Given the description of an element on the screen output the (x, y) to click on. 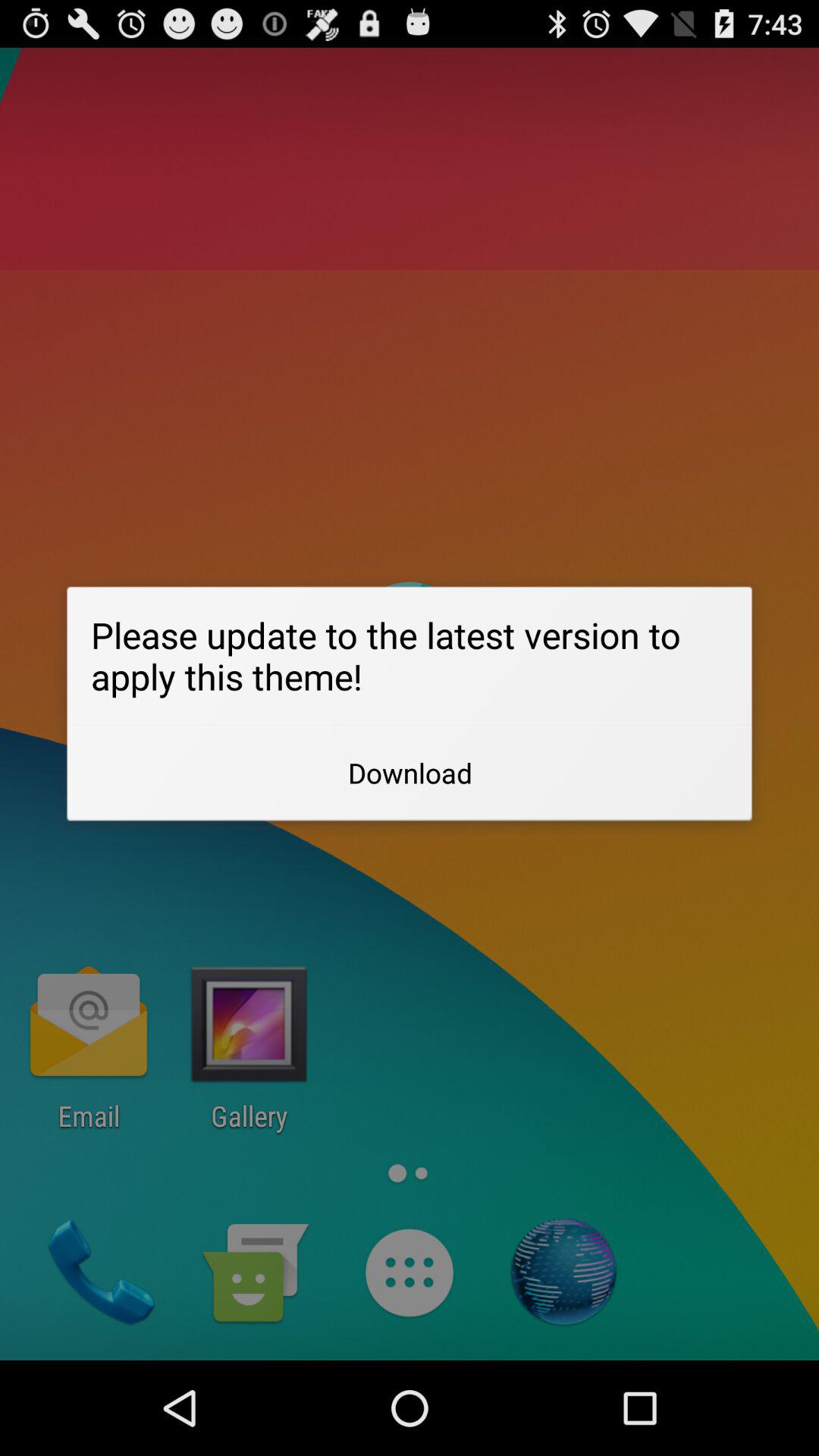
press download icon (409, 772)
